Given the description of an element on the screen output the (x, y) to click on. 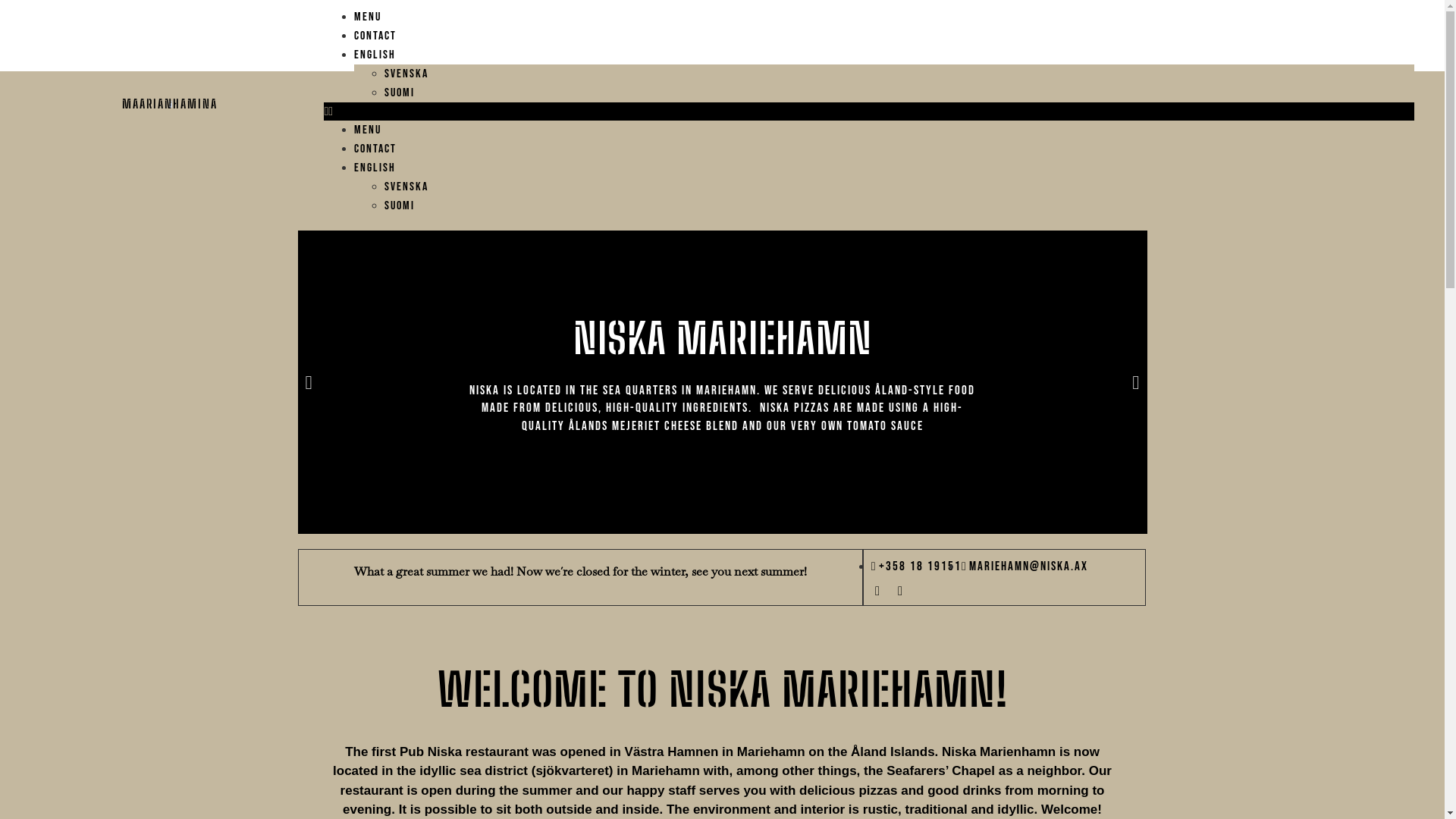
CONTACT Element type: text (375, 35)
ENGLISH Element type: text (884, 55)
ENGLISH Element type: text (884, 168)
CONTACT Element type: text (375, 148)
SUOMI Element type: text (899, 93)
SVENSKA Element type: text (899, 74)
SVENSKA Element type: text (899, 187)
MENU Element type: text (367, 129)
SUOMI Element type: text (899, 206)
MENU Element type: text (367, 16)
